Given the description of an element on the screen output the (x, y) to click on. 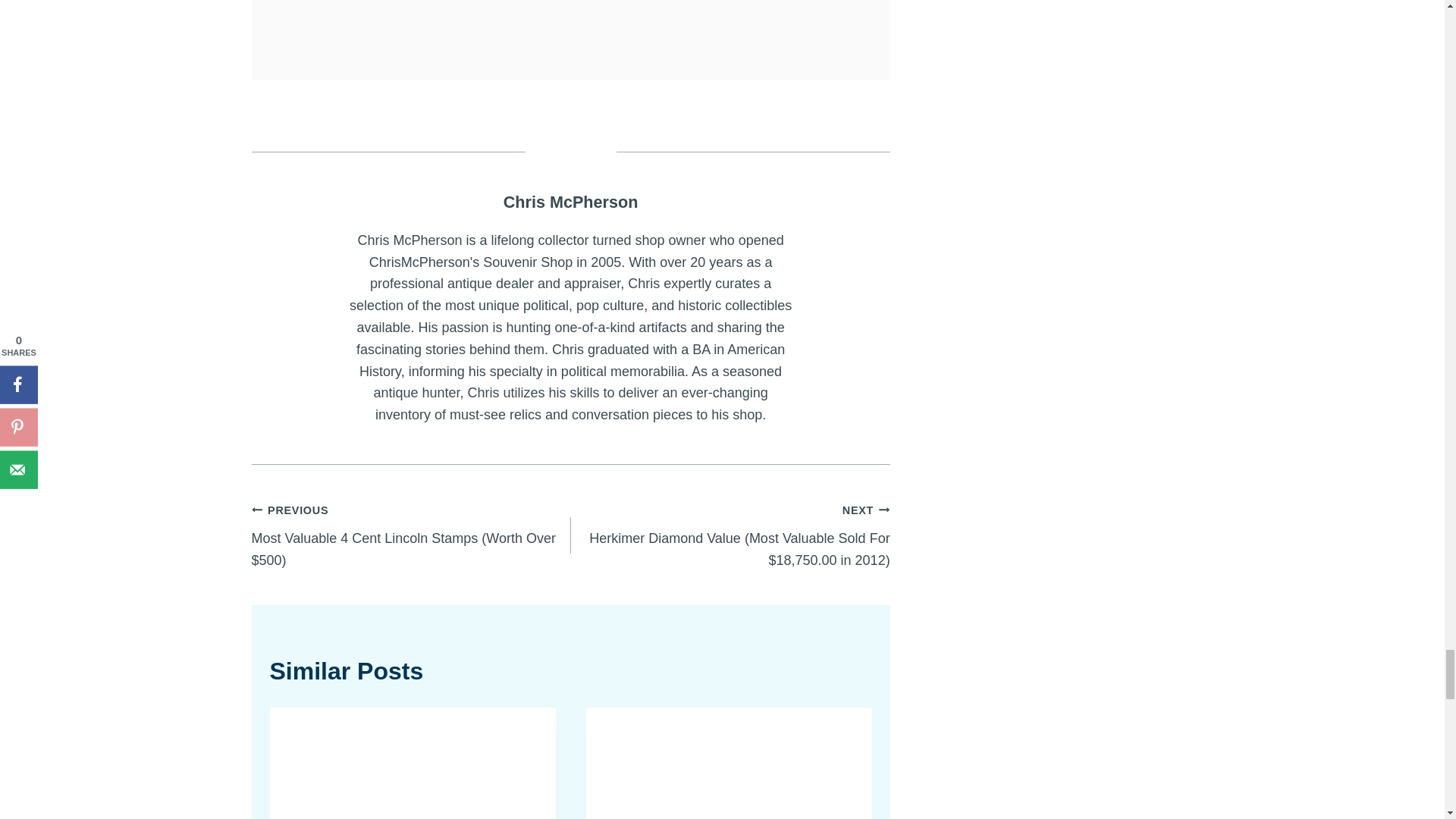
Posts by Chris McPherson (571, 201)
Chris McPherson (571, 201)
